Given the description of an element on the screen output the (x, y) to click on. 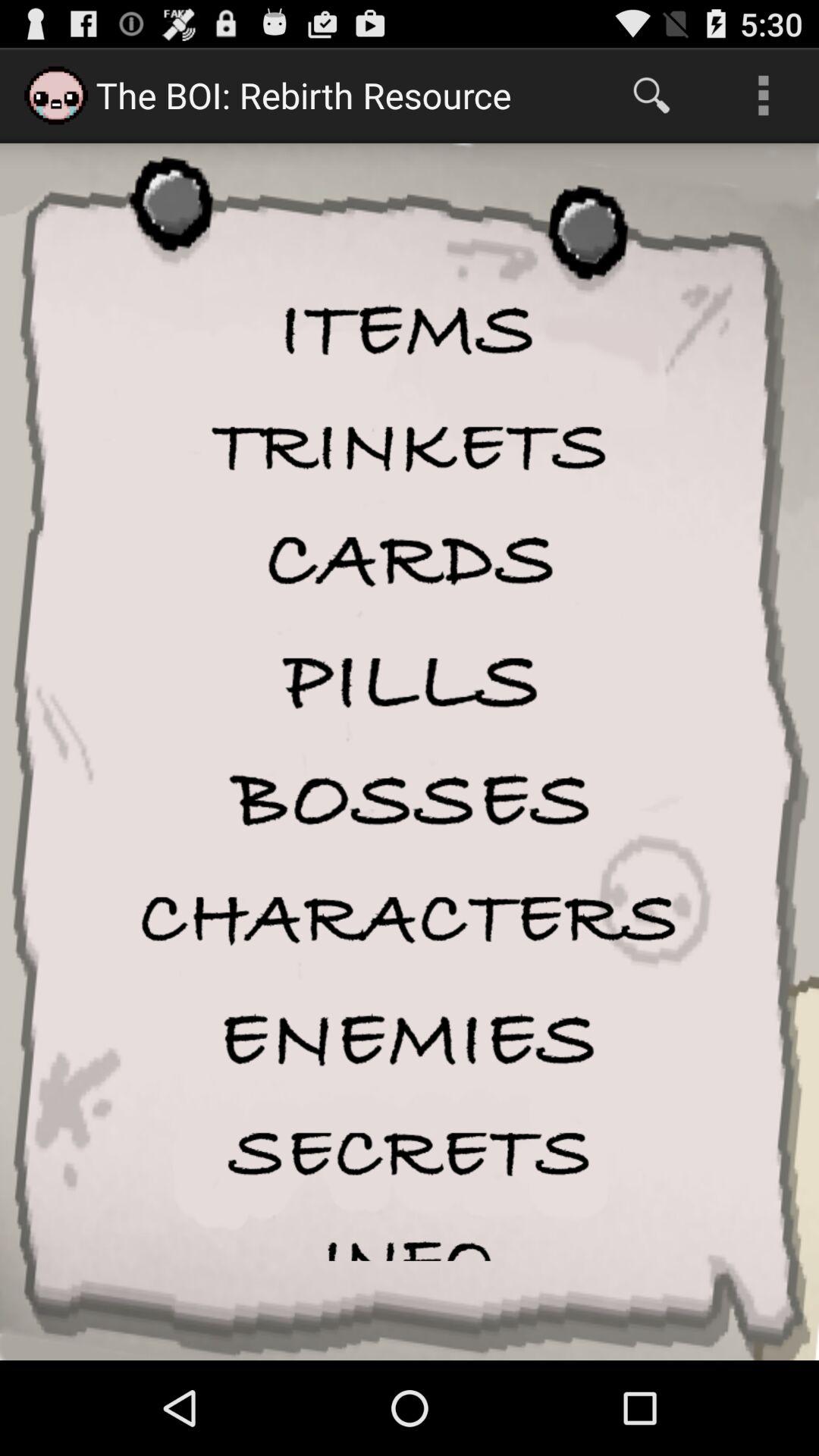
characters (409, 919)
